Given the description of an element on the screen output the (x, y) to click on. 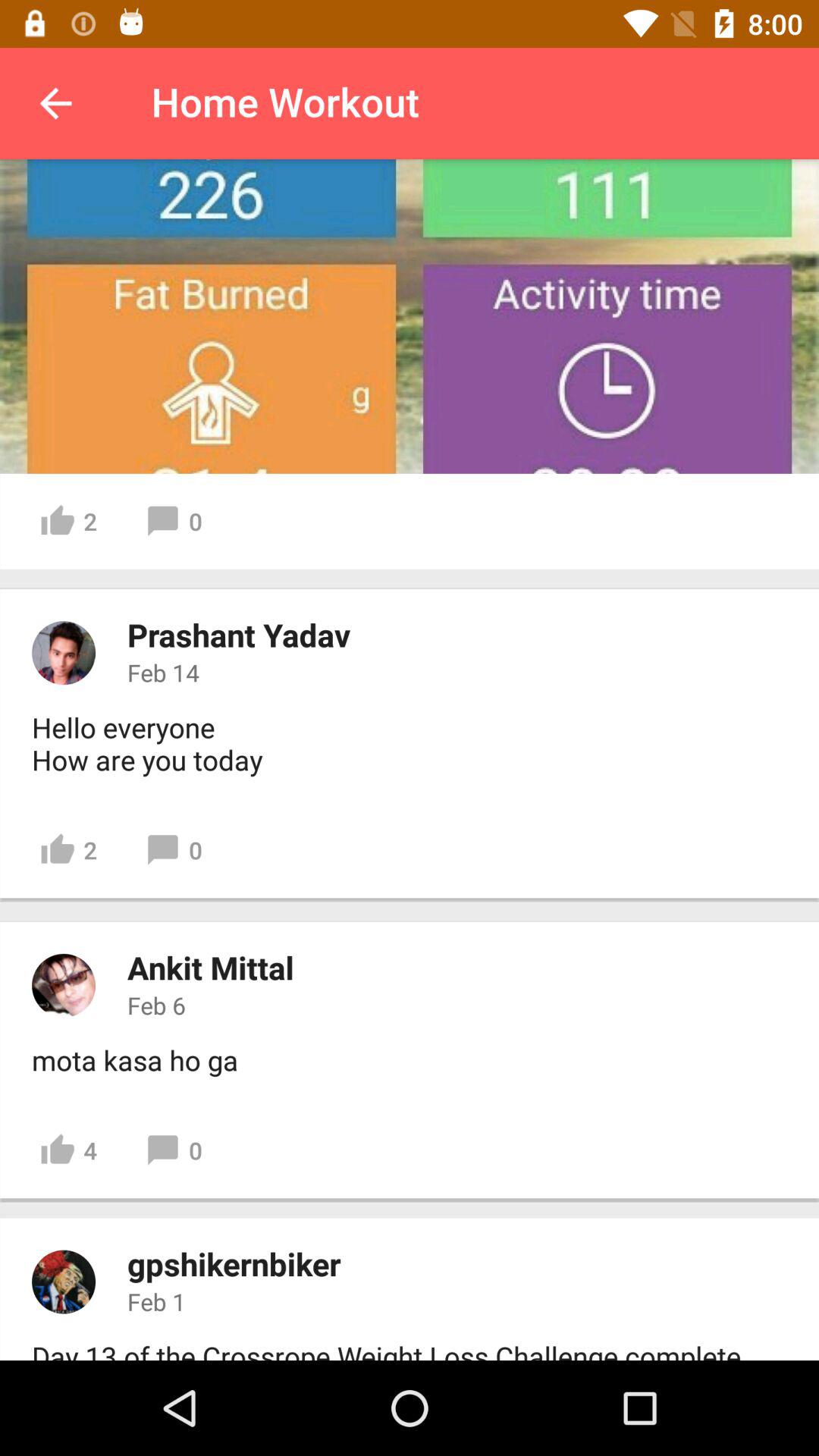
select the icon below 4 (233, 1263)
